Given the description of an element on the screen output the (x, y) to click on. 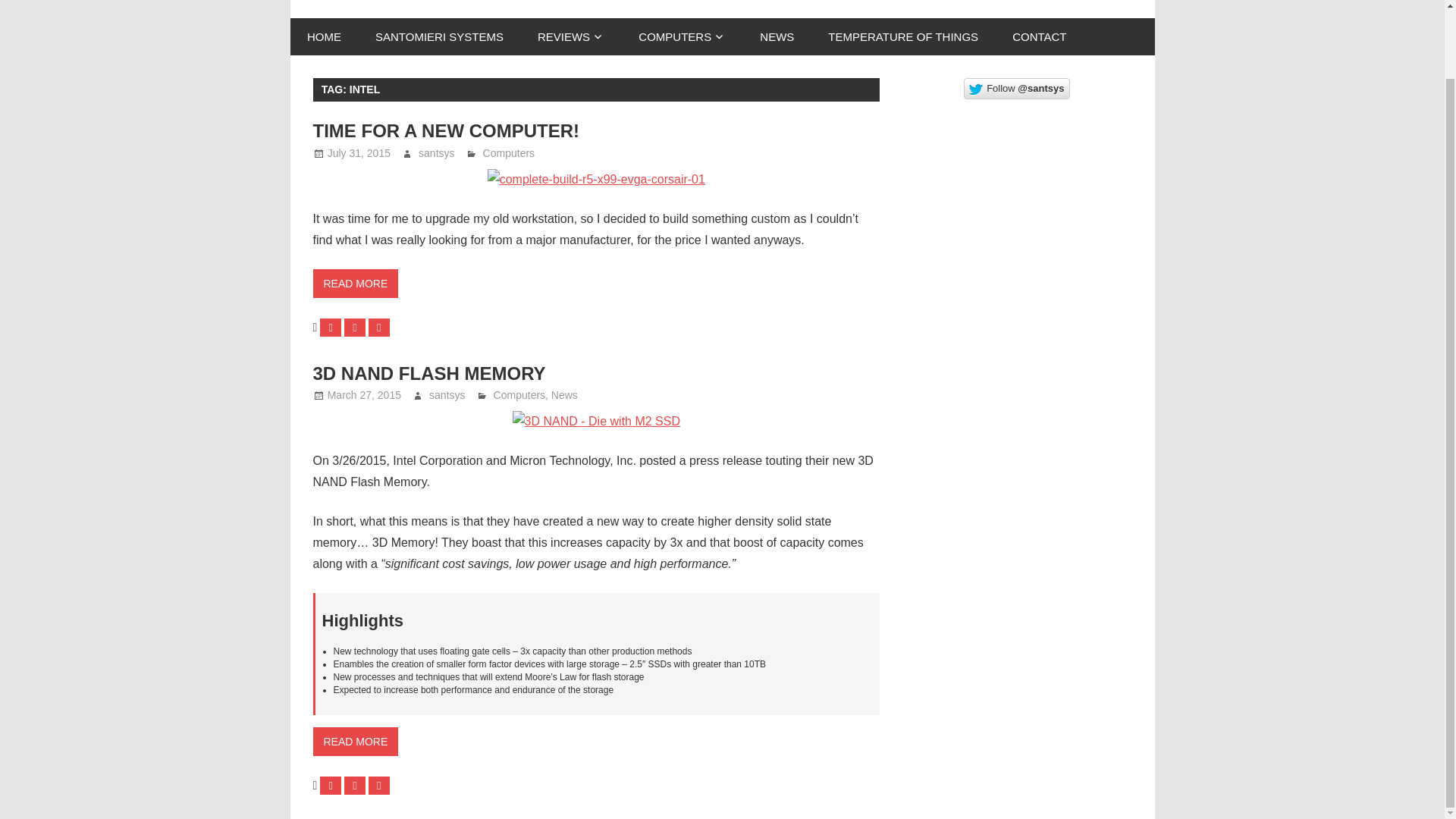
READ MORE (355, 741)
CONTACT (1039, 36)
View all posts by santsys (436, 152)
March 27, 2015 (364, 395)
COMPUTERS (681, 36)
7:29 am (358, 152)
News (564, 395)
READ MORE (355, 283)
santsys (436, 152)
NEWS (776, 36)
